Given the description of an element on the screen output the (x, y) to click on. 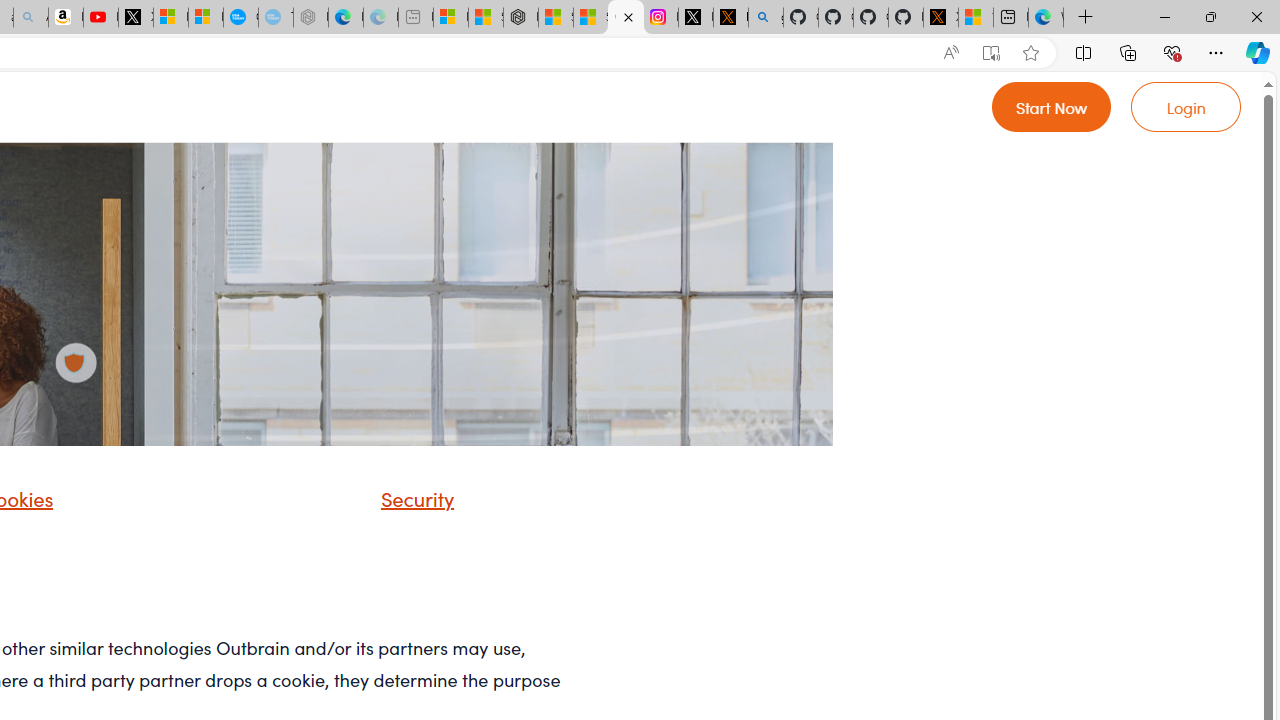
Amazon Echo Dot PNG - Search Images - Sleeping (31, 17)
Welcome to Microsoft Edge (1046, 17)
Log in to X / X (695, 17)
Day 1: Arriving in Yemen (surreal to be here) - YouTube (100, 17)
Opinion: Op-Ed and Commentary - USA TODAY (241, 17)
Security (411, 497)
The most popular Google 'how to' searches - Sleeping (275, 17)
Nordace - Nordace has arrived Hong Kong - Sleeping (310, 17)
